Given the description of an element on the screen output the (x, y) to click on. 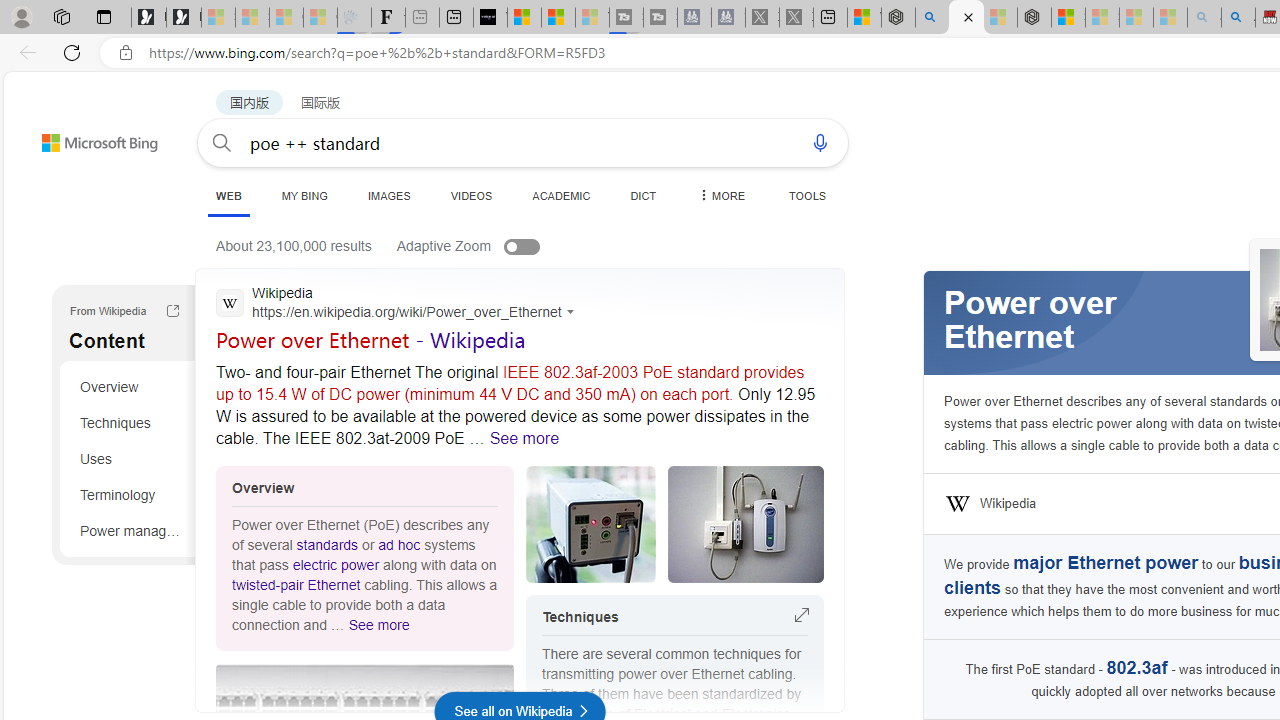
Search using voice (820, 142)
electric power (335, 565)
Skip to content (63, 133)
IMAGES (388, 195)
Search button (221, 142)
Uses image (590, 524)
Uses (130, 457)
MY BING (303, 195)
